Given the description of an element on the screen output the (x, y) to click on. 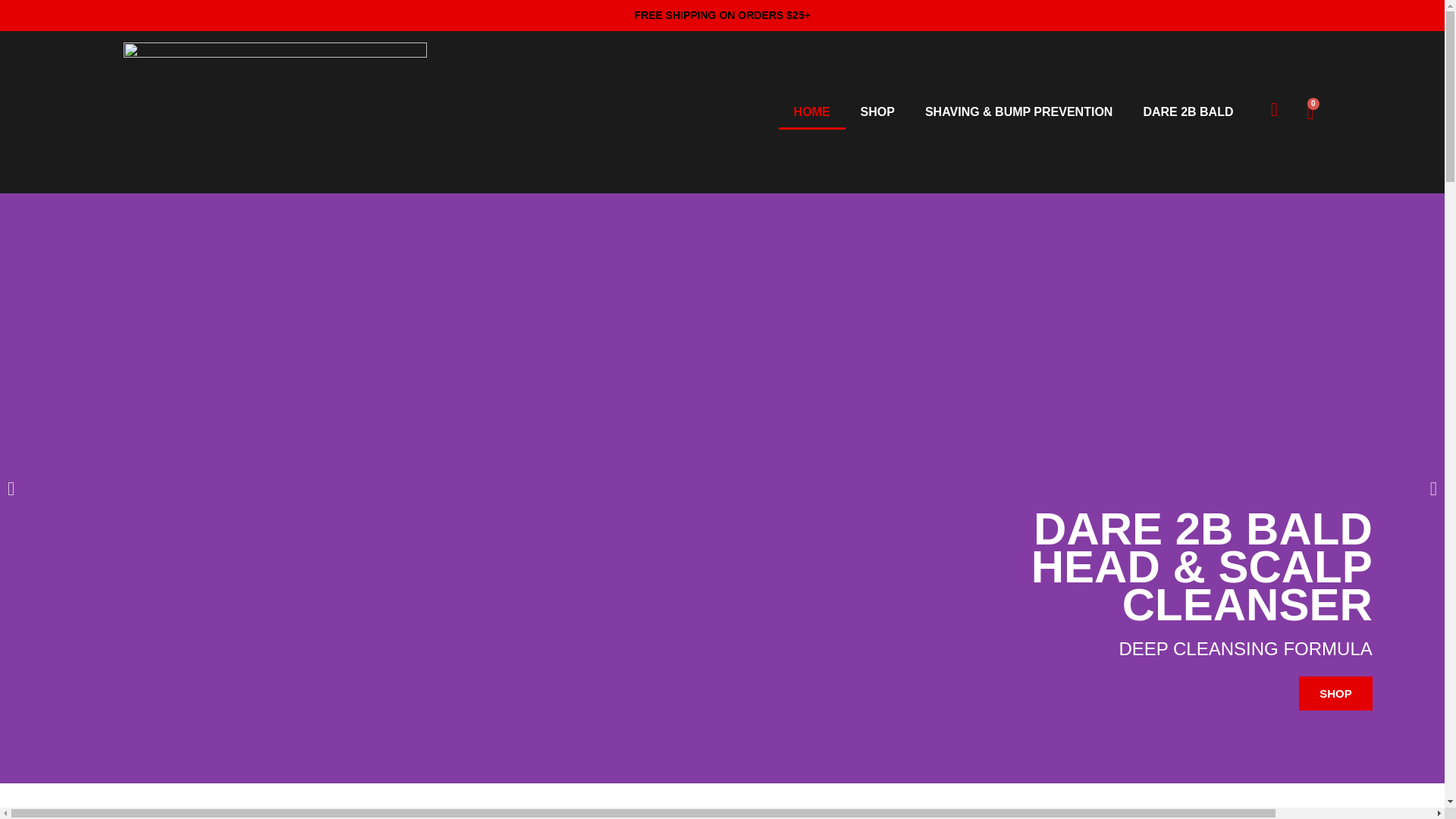
SHOP (877, 112)
SHOP (1335, 693)
HOME (811, 112)
DARE 2B BALD (1186, 112)
